Given the description of an element on the screen output the (x, y) to click on. 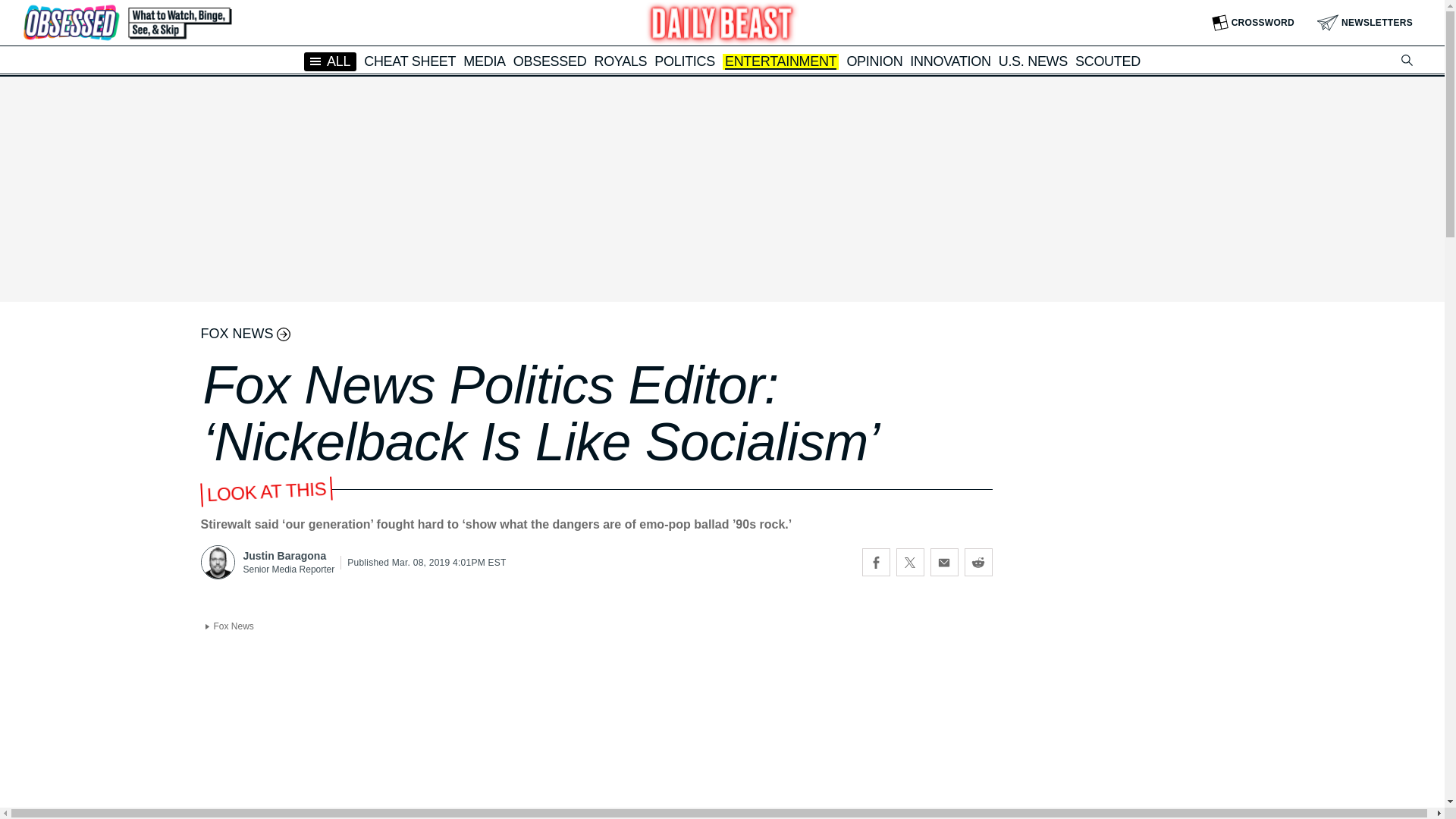
INNOVATION (950, 60)
ALL (330, 60)
ROYALS (620, 60)
SCOUTED (1107, 60)
U.S. NEWS (1032, 60)
ENTERTAINMENT (780, 61)
CROSSWORD (1252, 22)
OPINION (873, 60)
OBSESSED (549, 60)
MEDIA (484, 60)
NEWSLETTERS (1364, 22)
CHEAT SHEET (409, 60)
POLITICS (683, 60)
